Given the description of an element on the screen output the (x, y) to click on. 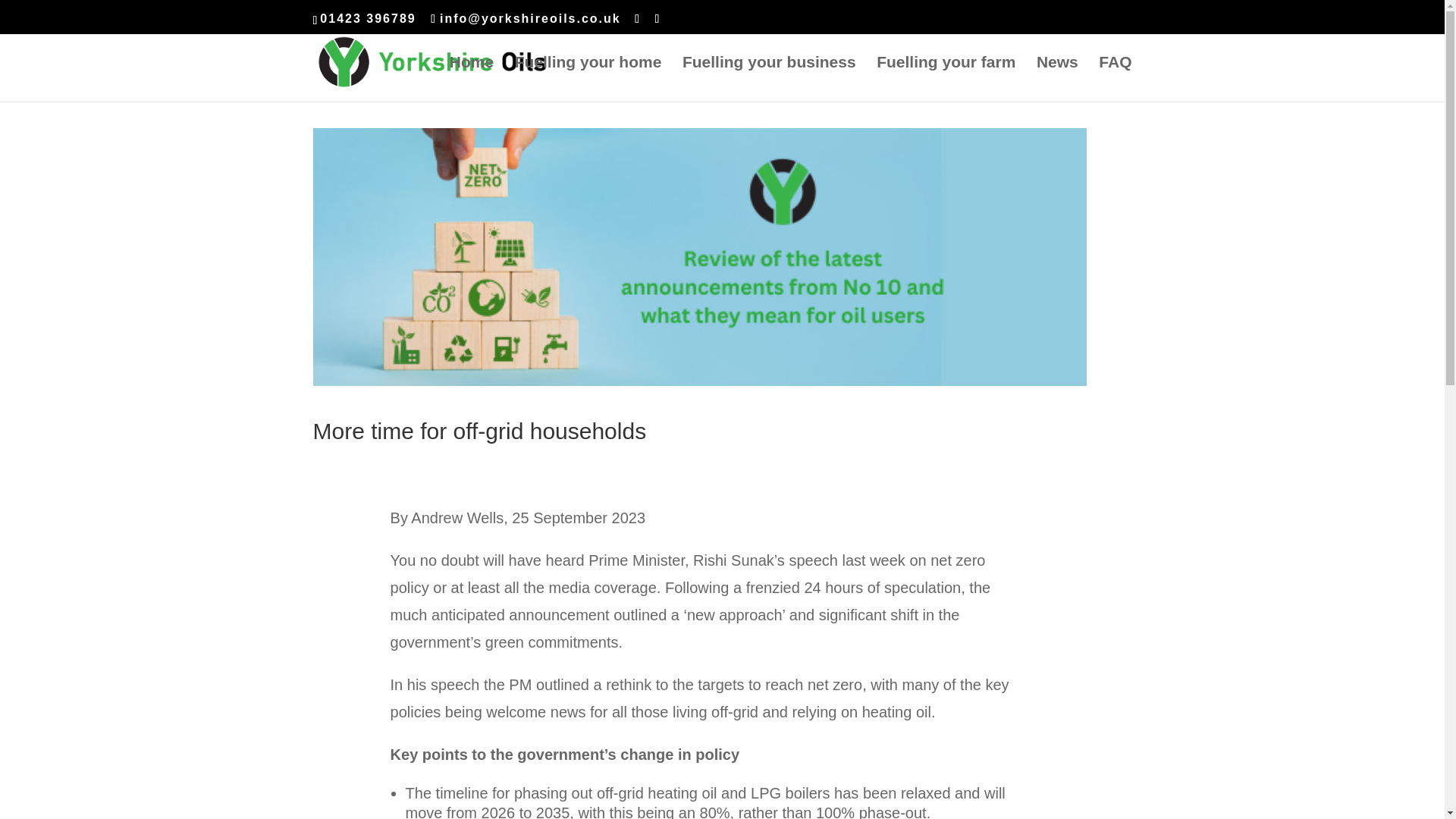
News (1057, 78)
Fuelling your business (769, 78)
Fuelling your home (588, 78)
Home (471, 78)
Fuelling your farm (945, 78)
More time for off-grid households (479, 430)
